Given the description of an element on the screen output the (x, y) to click on. 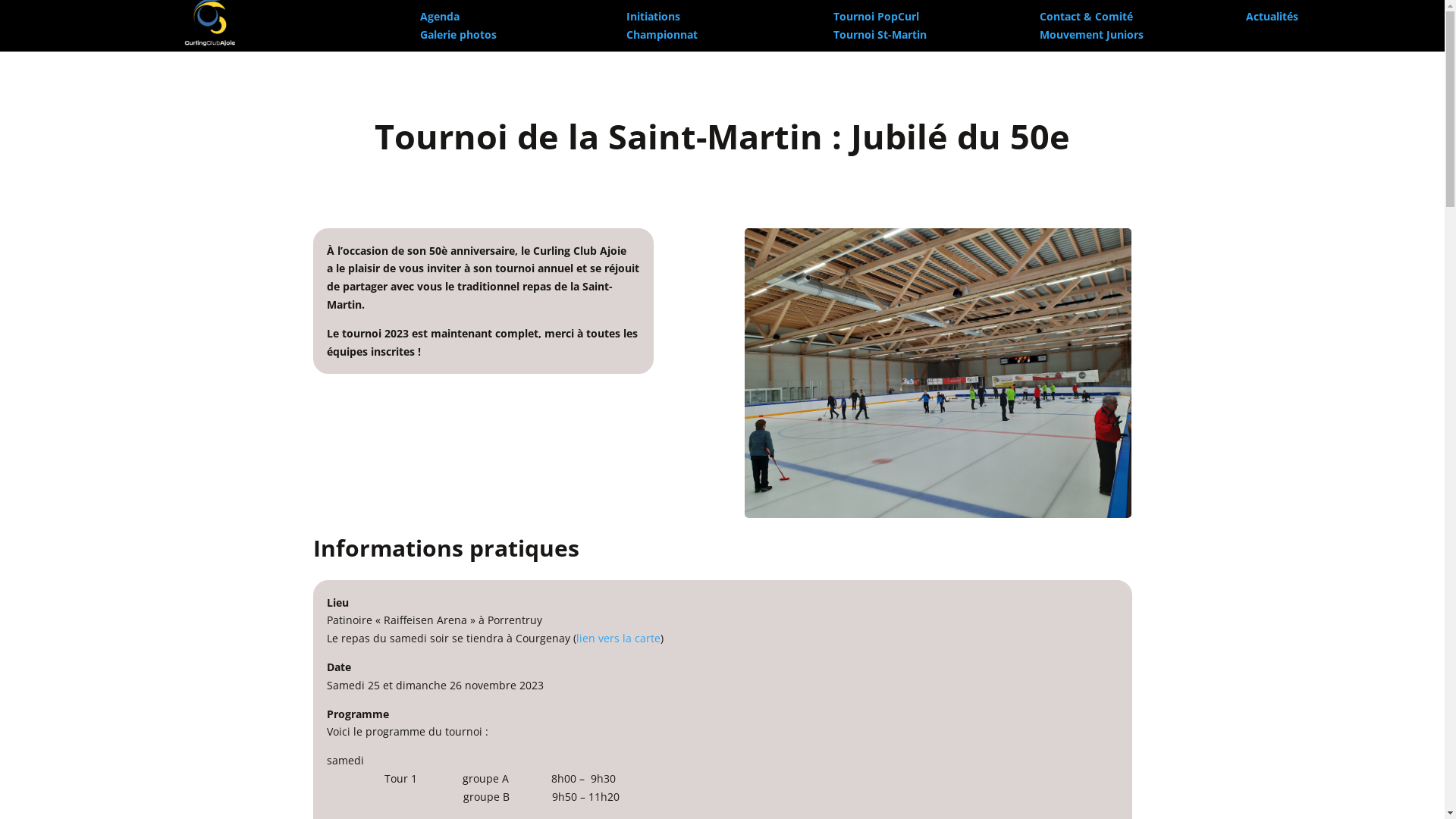
Agenda Element type: text (439, 16)
Tournoi St-Martin Element type: text (878, 34)
lien vers la carte Element type: text (618, 637)
Initiations Element type: text (653, 16)
Mouvement Juniors Element type: text (1091, 34)
Tournoi PopCurl Element type: text (875, 16)
Championnat Element type: text (661, 34)
Galerie photos Element type: text (458, 34)
